Given the description of an element on the screen output the (x, y) to click on. 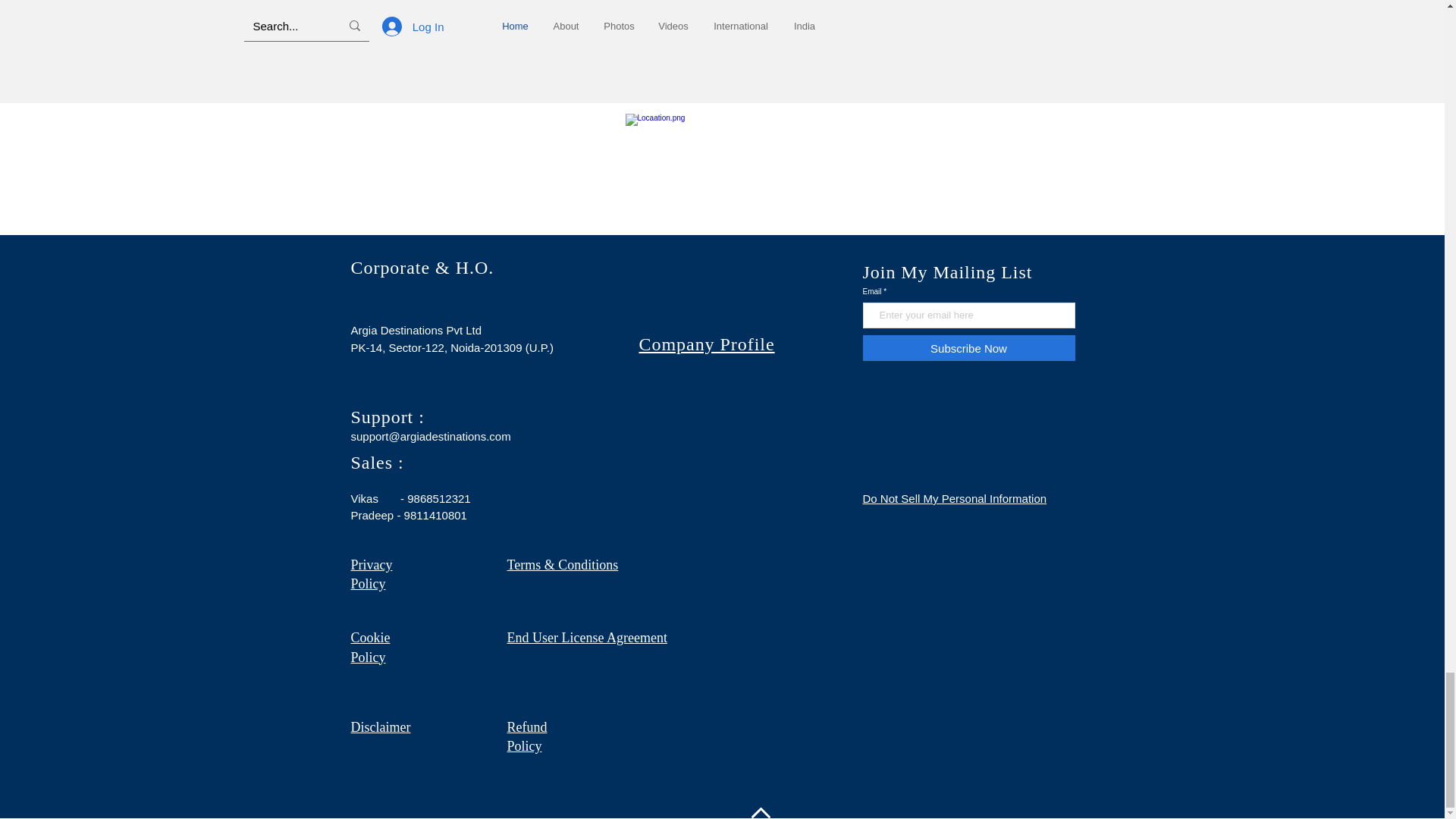
Post not marked as liked (1039, 64)
Company Profile (706, 343)
0 (446, 64)
